Given the description of an element on the screen output the (x, y) to click on. 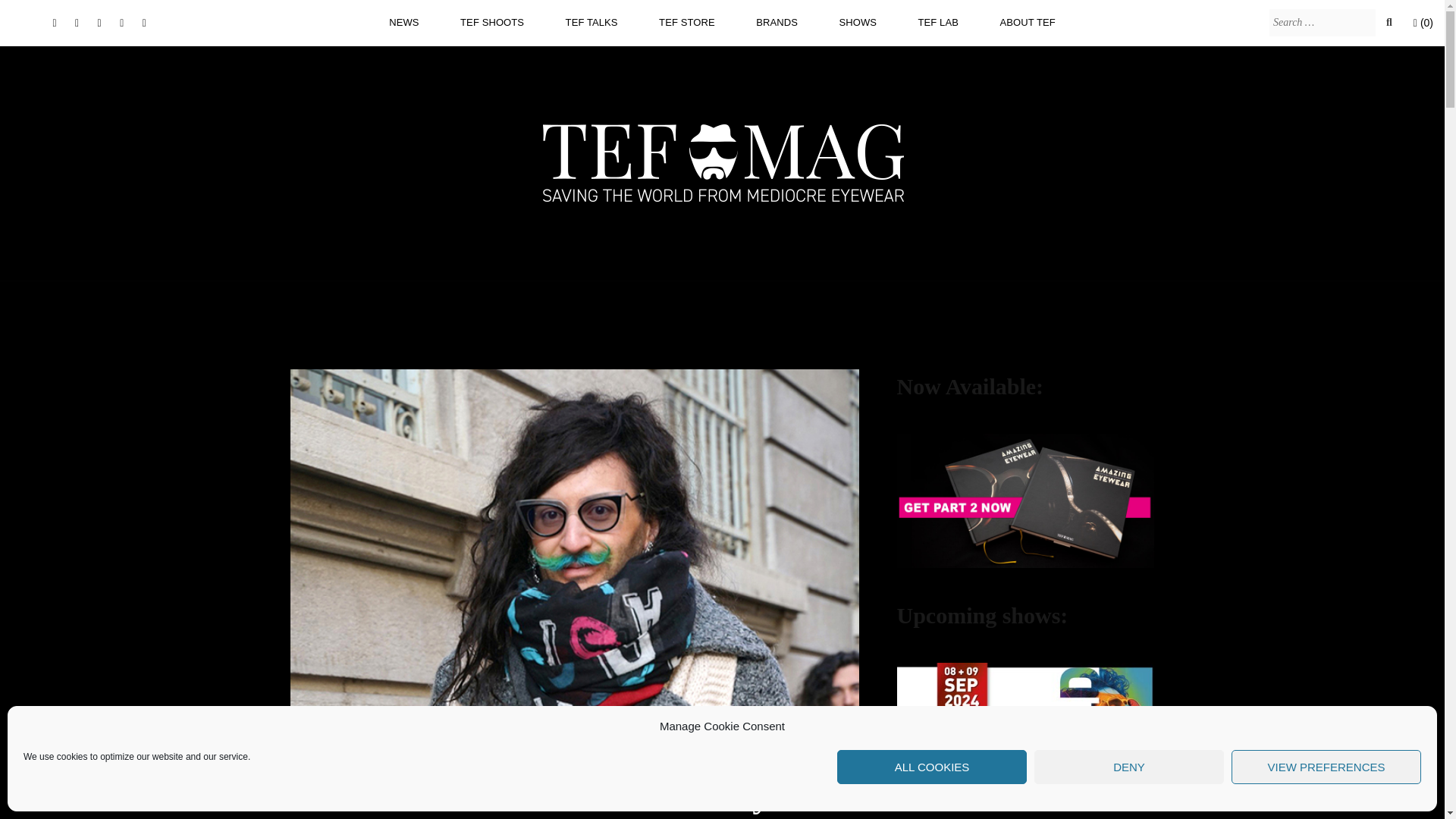
NEWS (403, 22)
ALL COOKIES (931, 766)
BRANDS (776, 22)
TEF STORE (686, 22)
TEF SHOOTS (492, 22)
VIEW PREFERENCES (1326, 766)
TEF TALKS (592, 22)
DENY (1128, 766)
SHOWS (857, 22)
